Given the description of an element on the screen output the (x, y) to click on. 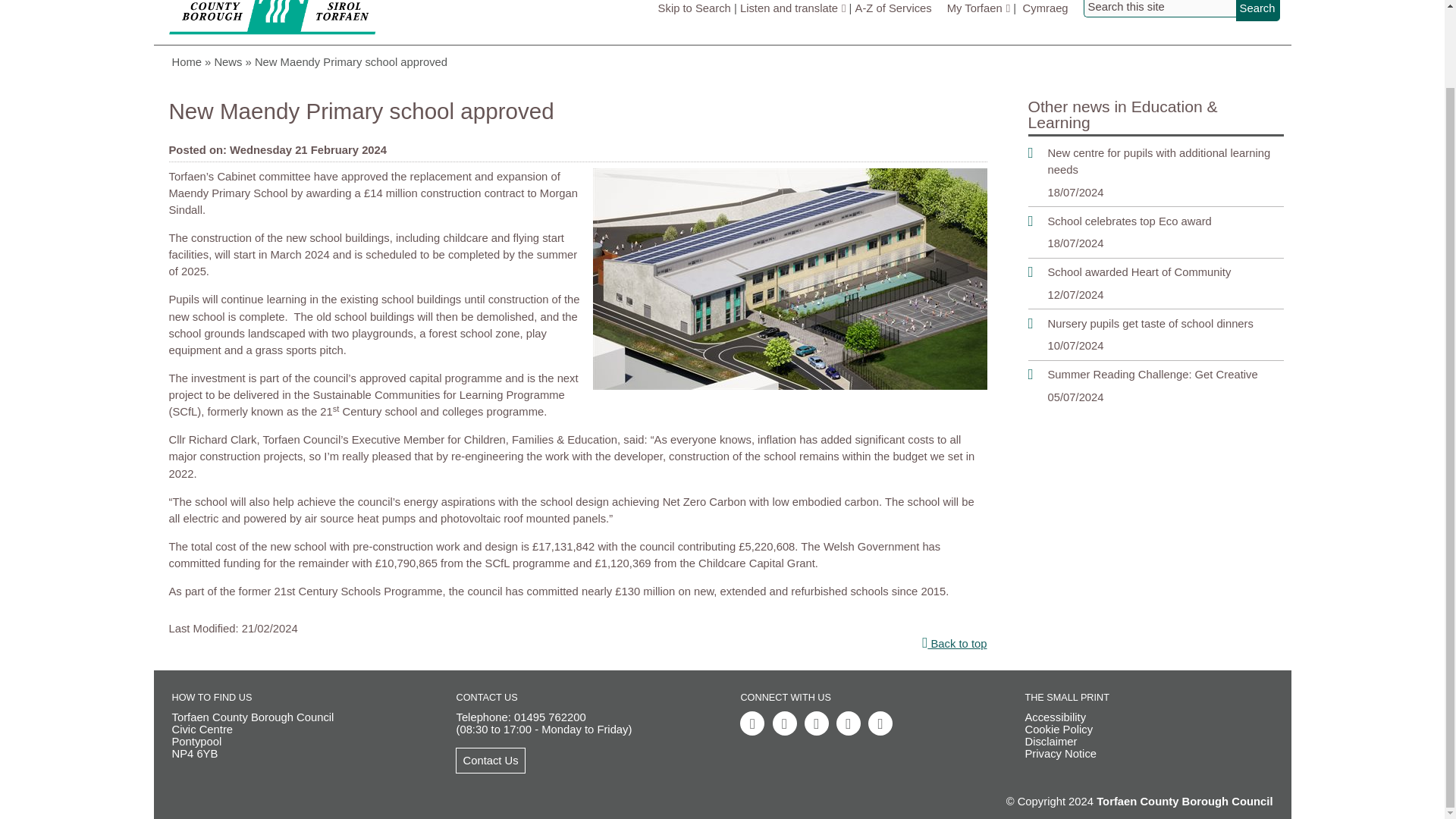
Search this site (1159, 8)
A-Z of Services (893, 8)
Home (192, 61)
Search this site (1159, 8)
Nursery pupils get taste of school dinners (1155, 323)
Contact Us (489, 760)
A-Z of Services (893, 8)
Summer Reading Challenge: Get Creative (1155, 374)
Search (1257, 10)
Search (1257, 10)
News (233, 61)
Back to top (577, 642)
Search (1257, 10)
Listen and translate (792, 8)
Search this site (1159, 8)
